Given the description of an element on the screen output the (x, y) to click on. 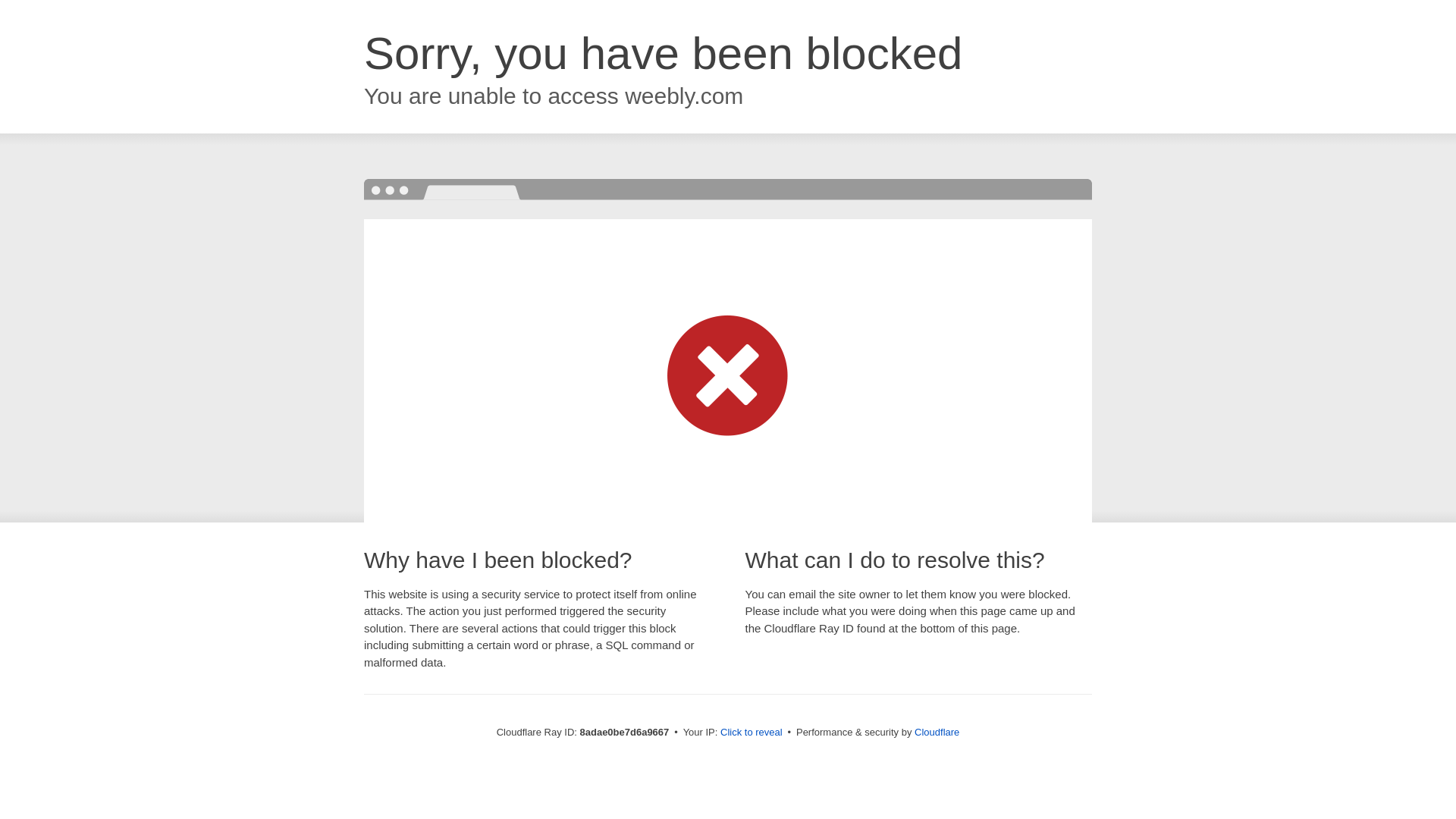
Click to reveal (751, 732)
Cloudflare (936, 731)
